Given the description of an element on the screen output the (x, y) to click on. 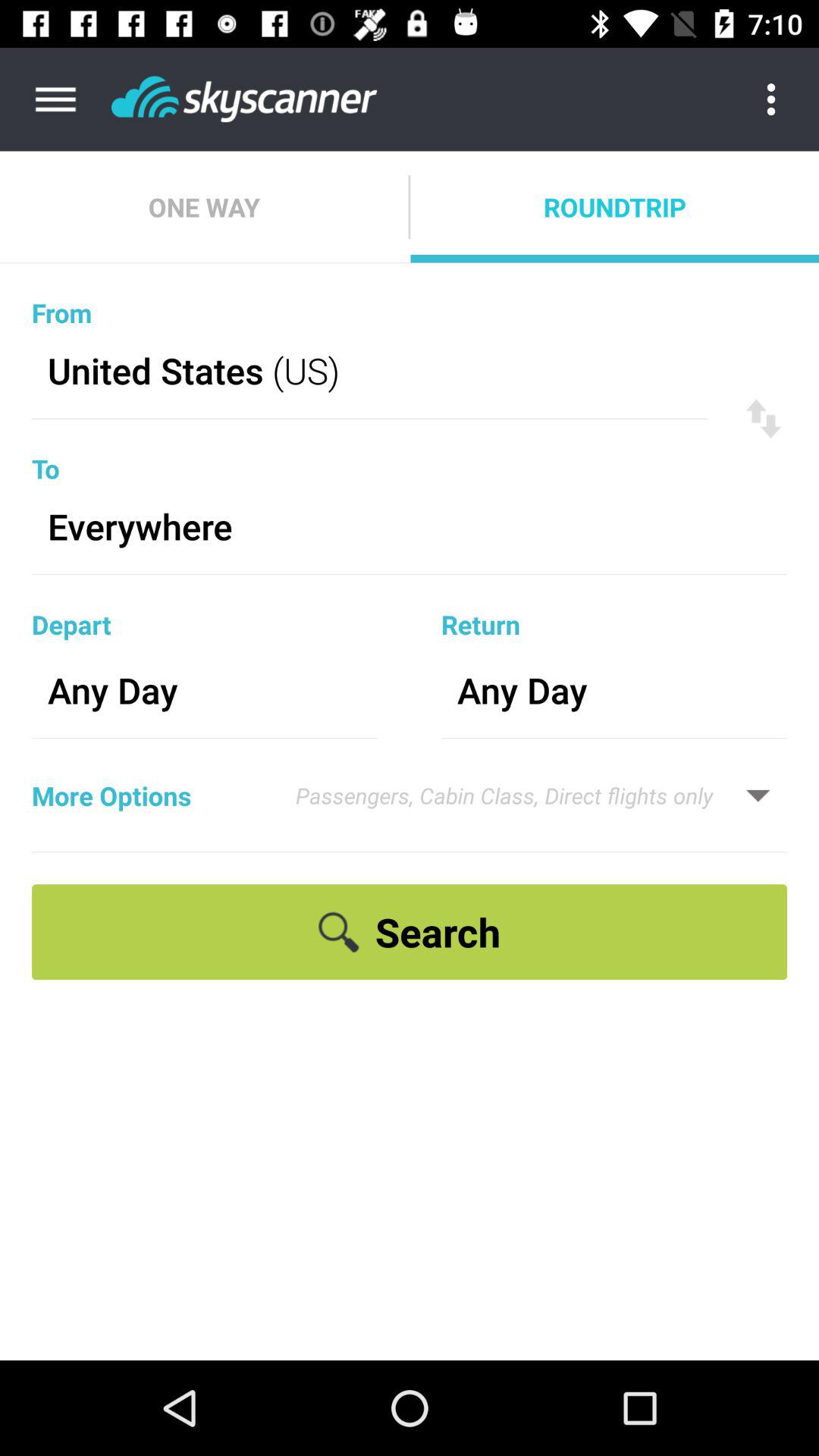
click the roundtrip app (614, 206)
